Given the description of an element on the screen output the (x, y) to click on. 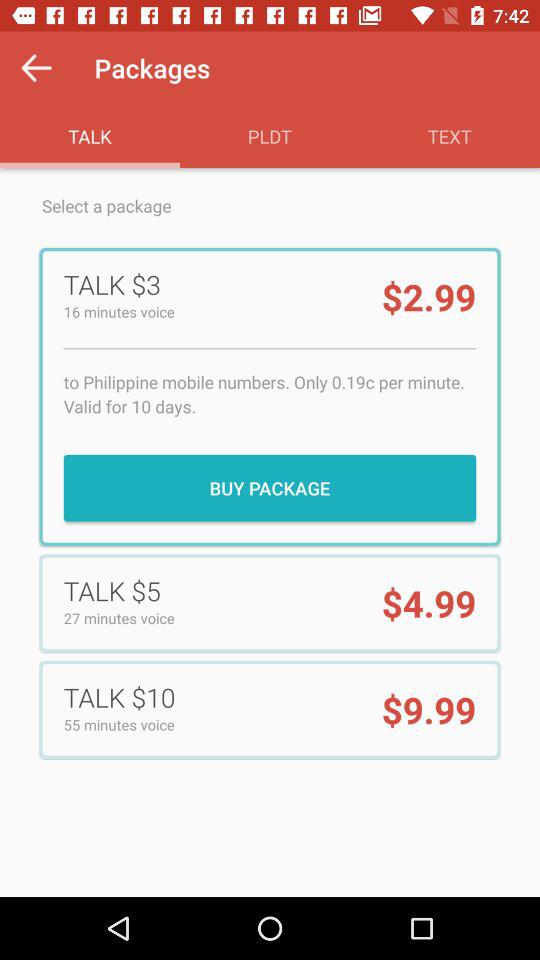
scroll until the buy package item (269, 487)
